Given the description of an element on the screen output the (x, y) to click on. 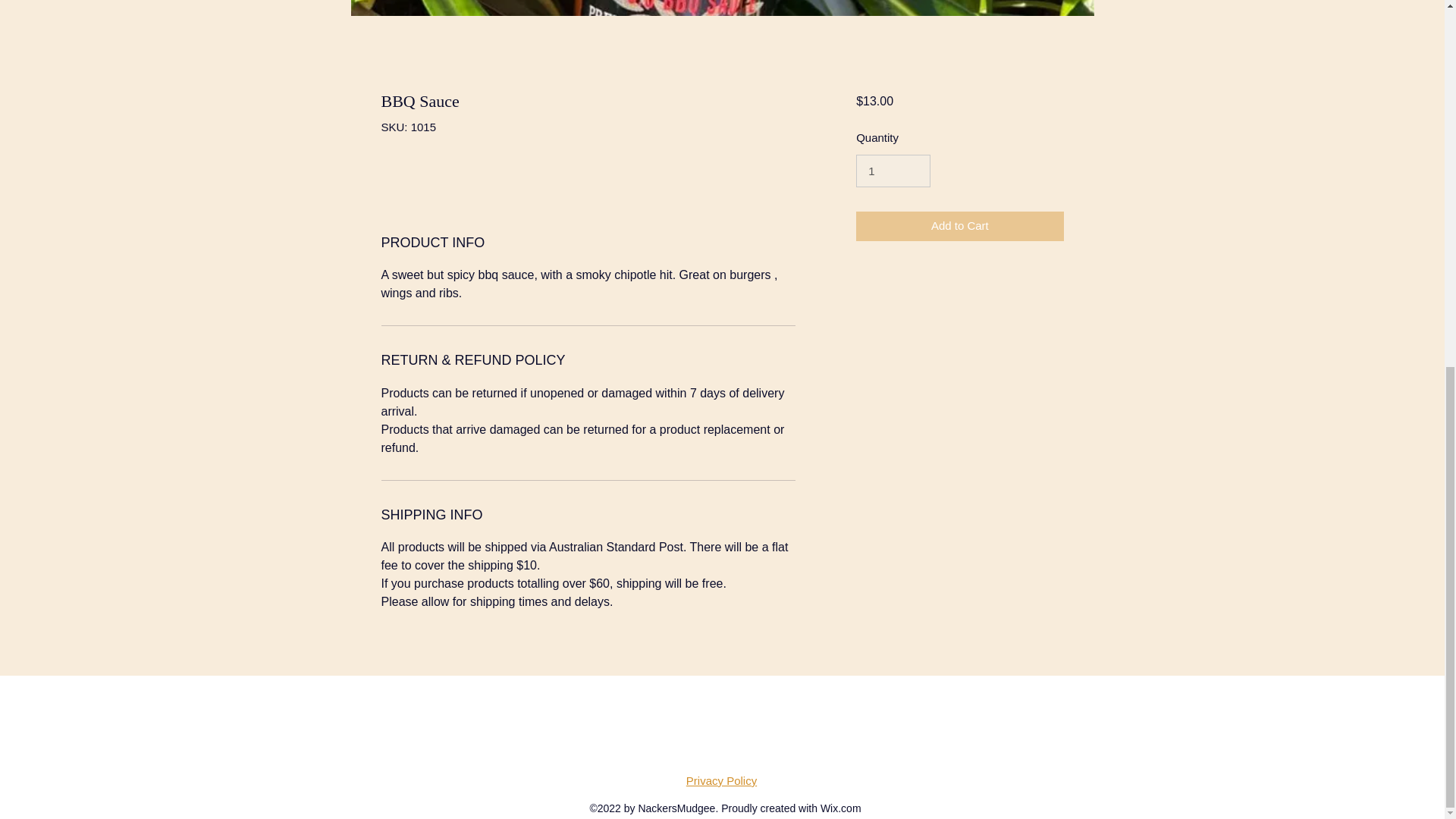
Privacy Policy (721, 780)
Add to Cart (959, 225)
1 (893, 171)
